Given the description of an element on the screen output the (x, y) to click on. 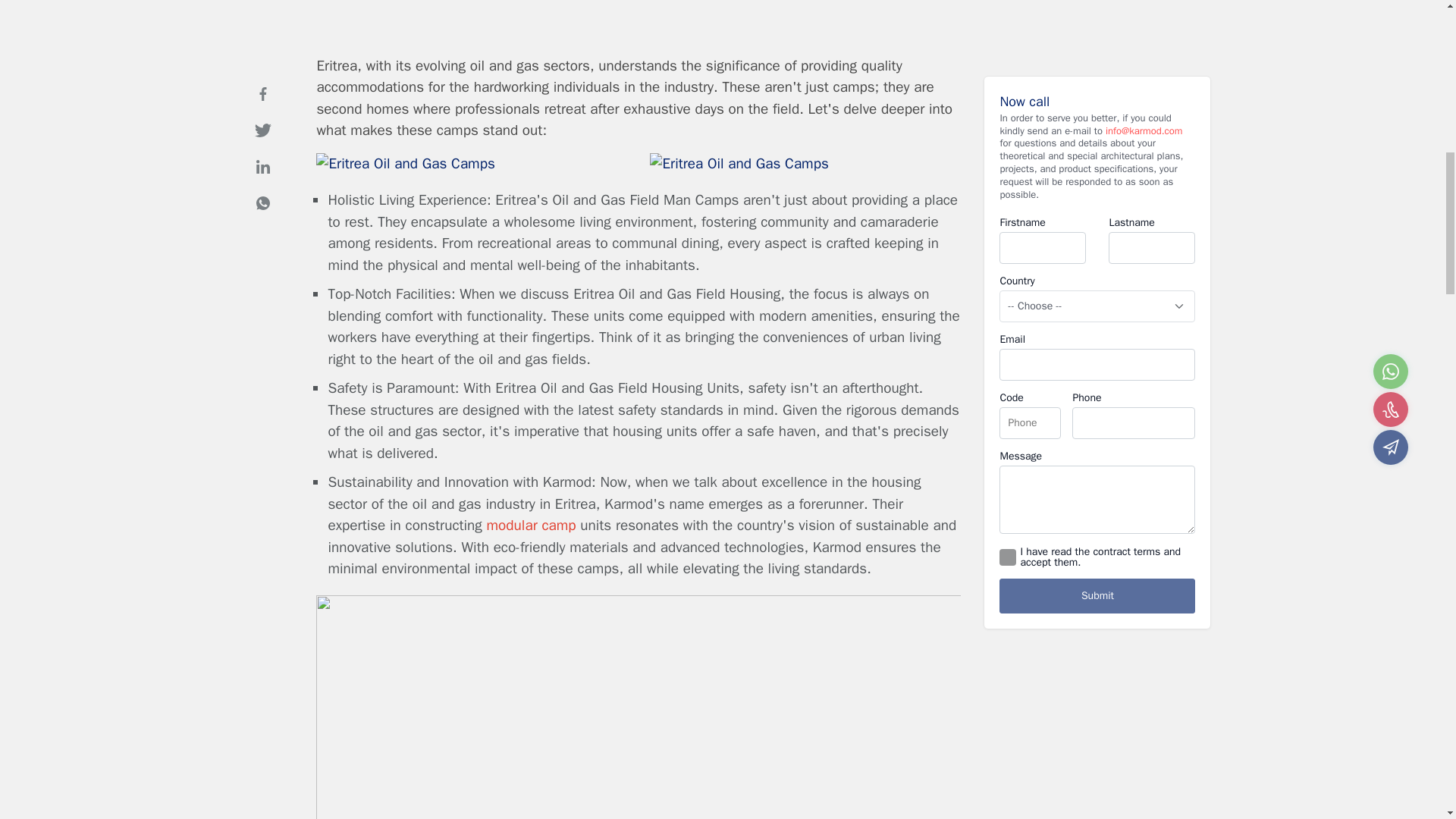
Eritrea Oil and Gas Camps (738, 163)
Whatsapp (262, 182)
on (1007, 536)
Twitter (262, 110)
Facebook (262, 73)
Linkedin (262, 146)
Eritrea Oil and Gas Camps (405, 163)
